Given the description of an element on the screen output the (x, y) to click on. 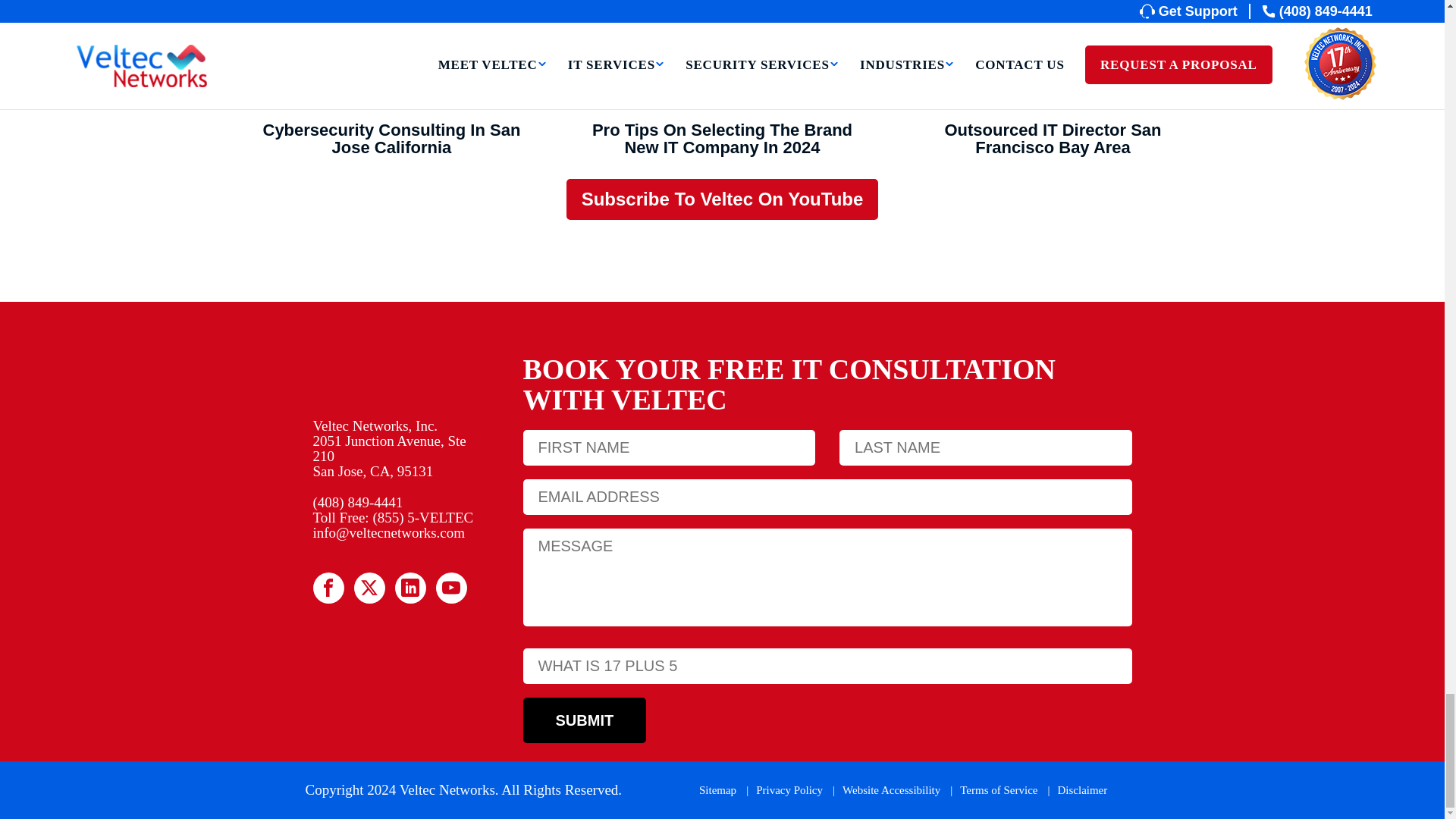
Cybersecurity Consulting In San Jose California (391, 54)
Outsourced IT Director San Francisco Bay Area (1053, 54)
Pro Tips On Selecting The Brand New IT Company In 2024 (722, 54)
